Given the description of an element on the screen output the (x, y) to click on. 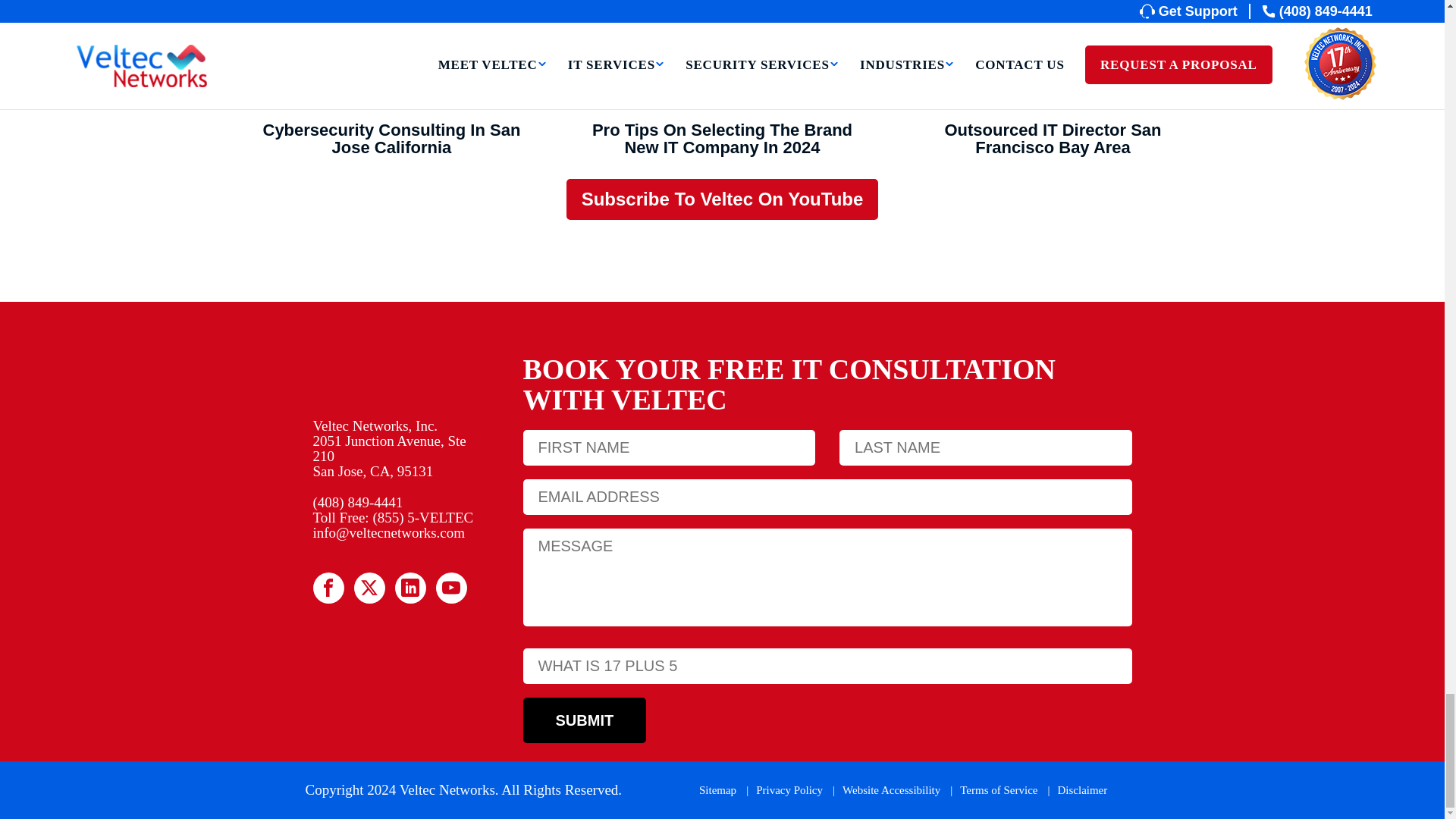
Cybersecurity Consulting In San Jose California (391, 54)
Outsourced IT Director San Francisco Bay Area (1053, 54)
Pro Tips On Selecting The Brand New IT Company In 2024 (722, 54)
